Given the description of an element on the screen output the (x, y) to click on. 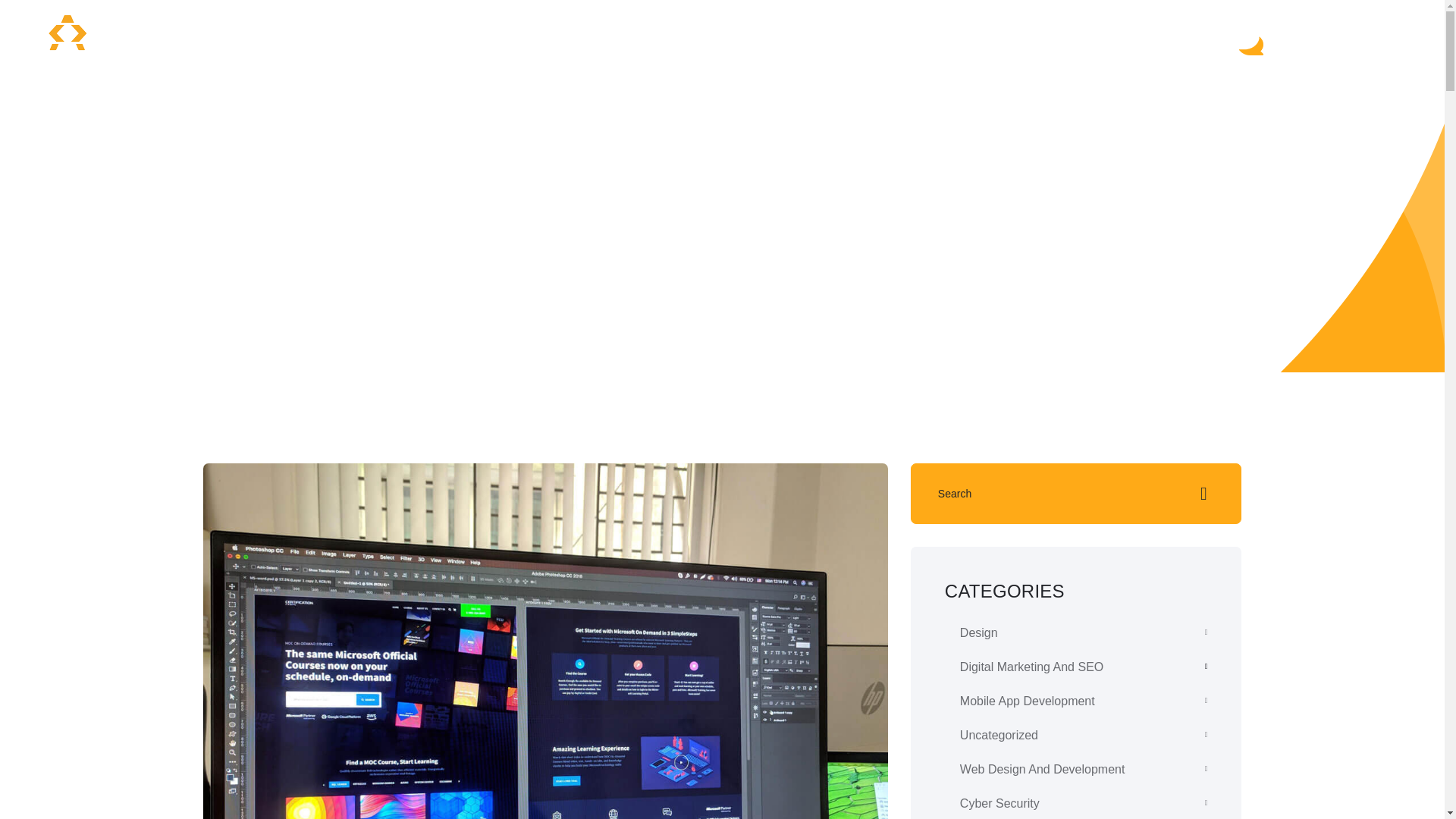
Ajroni Enterprises inc (67, 42)
ABOUT US (856, 40)
BLOG (670, 40)
Ajroni Enterprises inc (67, 43)
HOME (464, 40)
PORTFOLIO (755, 40)
OUR SERVICES (560, 40)
